Given the description of an element on the screen output the (x, y) to click on. 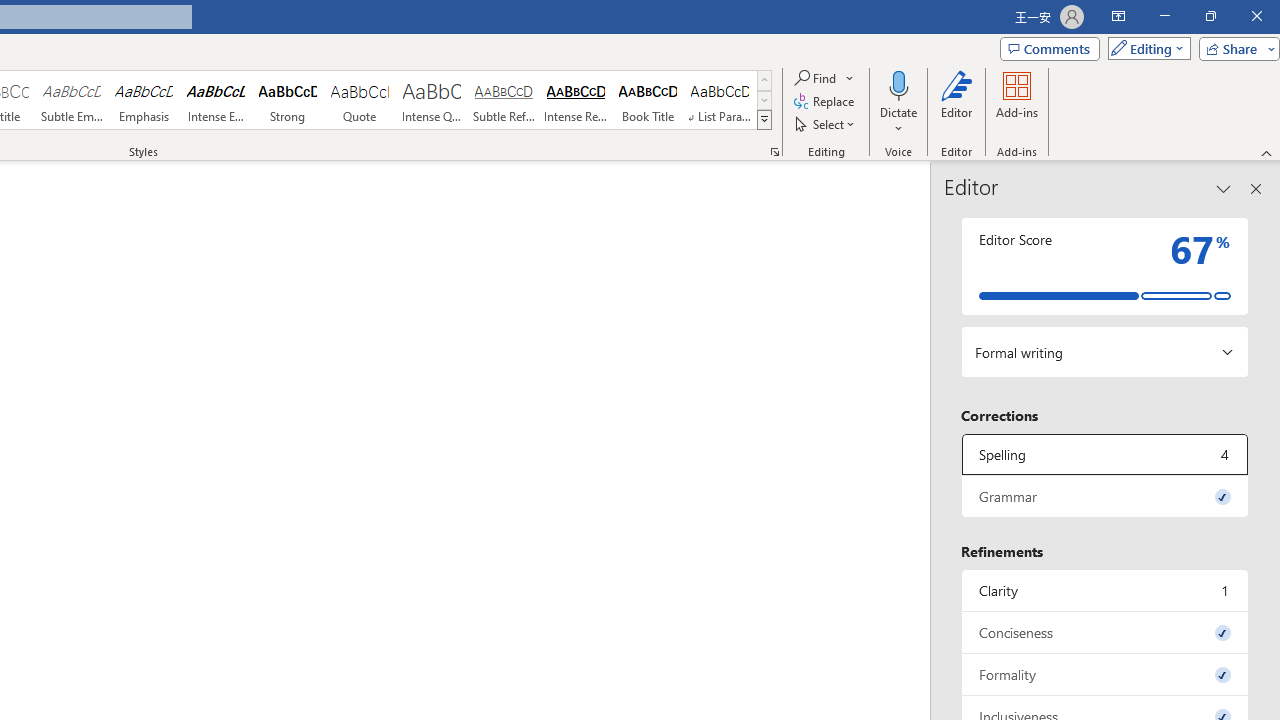
Clarity, 1 issue. Press space or enter to review items. (1105, 590)
Formality, 0 issues. Press space or enter to review items. (1105, 673)
